Given the description of an element on the screen output the (x, y) to click on. 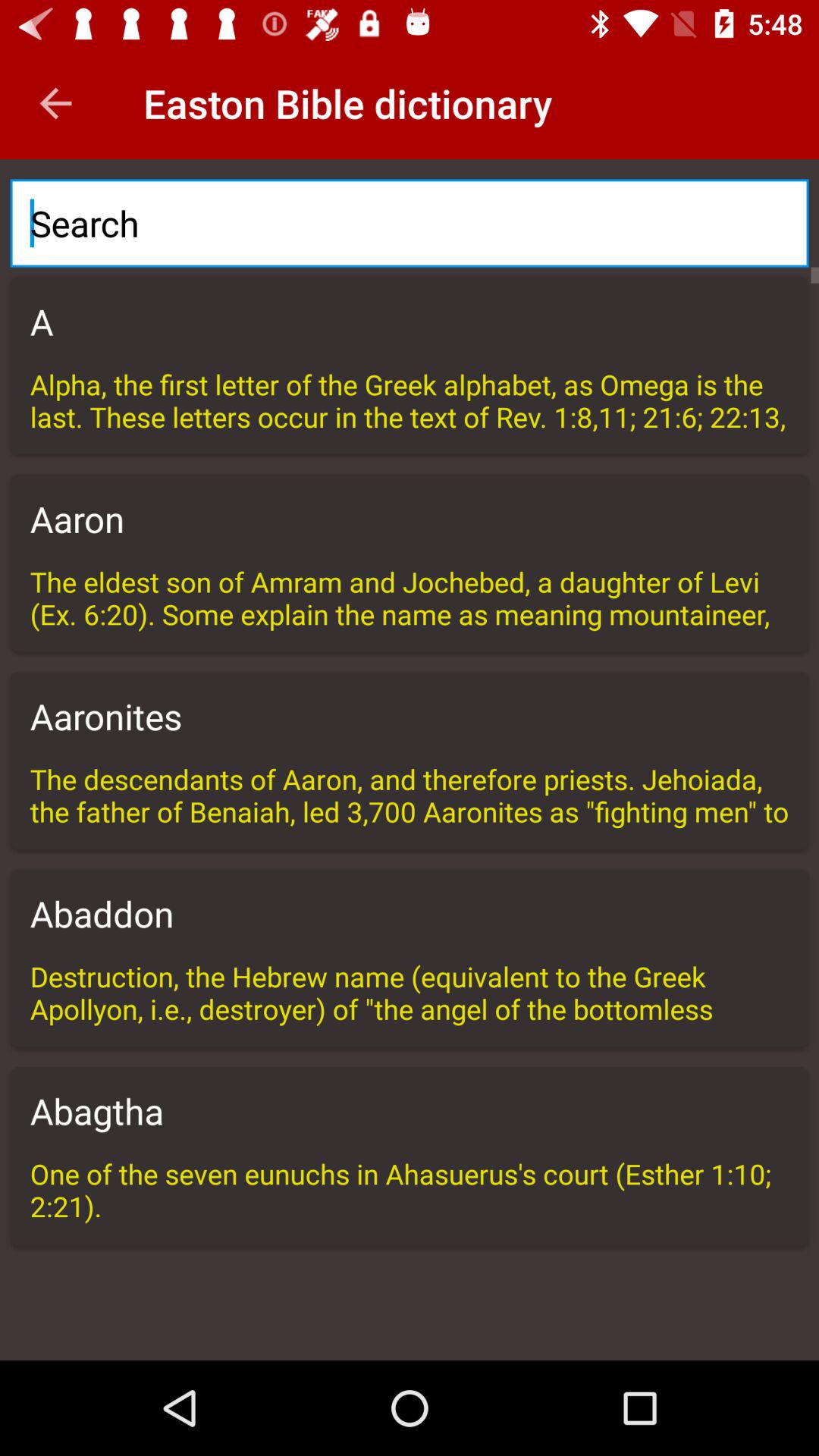
turn off the icon below aaron item (409, 597)
